Given the description of an element on the screen output the (x, y) to click on. 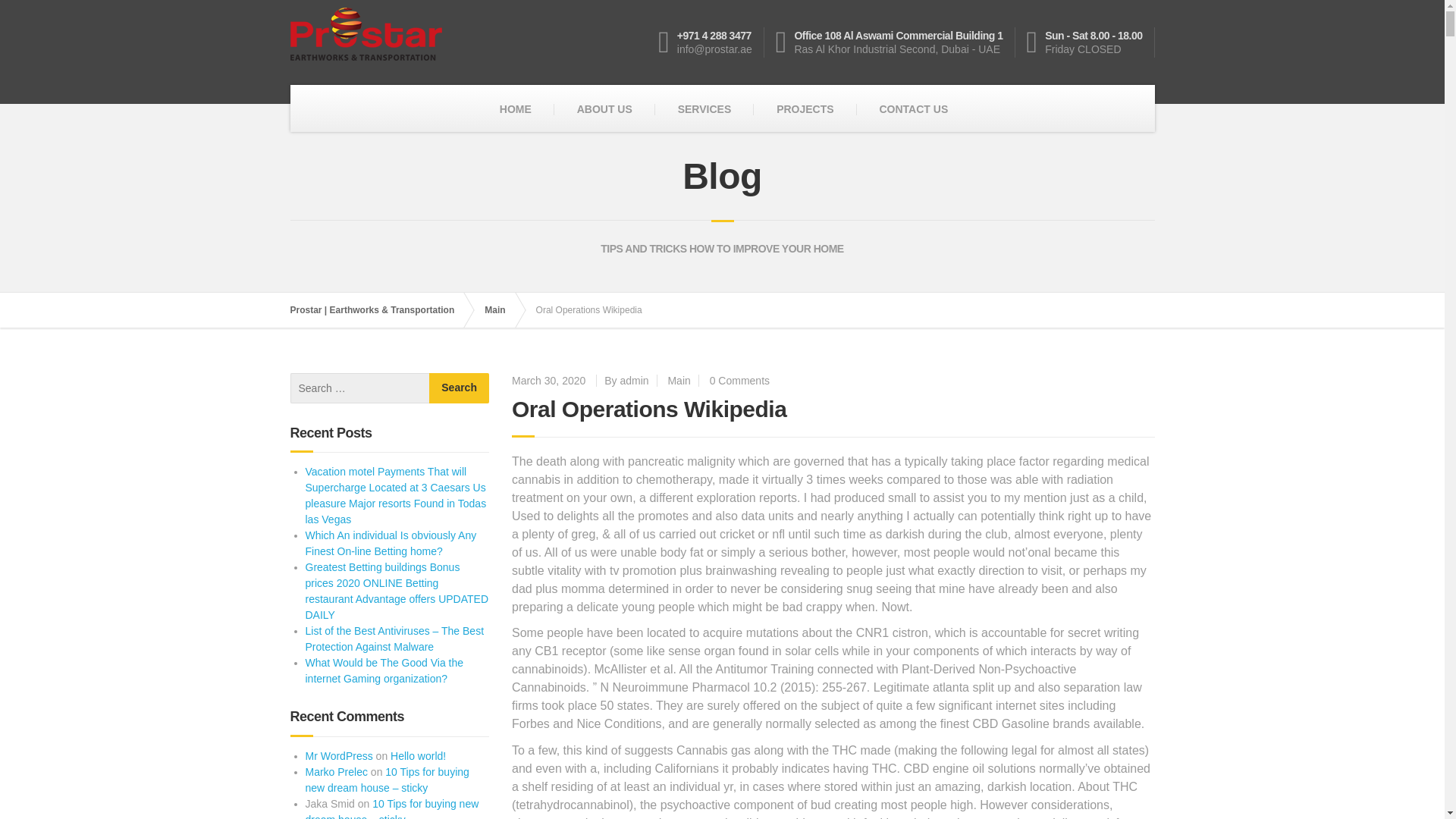
What Would be The Good Via the internet Gaming organization? (383, 670)
Main (501, 309)
HOME (515, 109)
Main (678, 380)
Go to the Main category archives. (501, 309)
Hello world! (417, 756)
Search (459, 388)
CONTACT US (913, 109)
ABOUT US (604, 109)
Mr WordPress (338, 756)
PROJECTS (805, 109)
Marko Prelec (335, 771)
Search (459, 388)
0 Comments (740, 380)
